Given the description of an element on the screen output the (x, y) to click on. 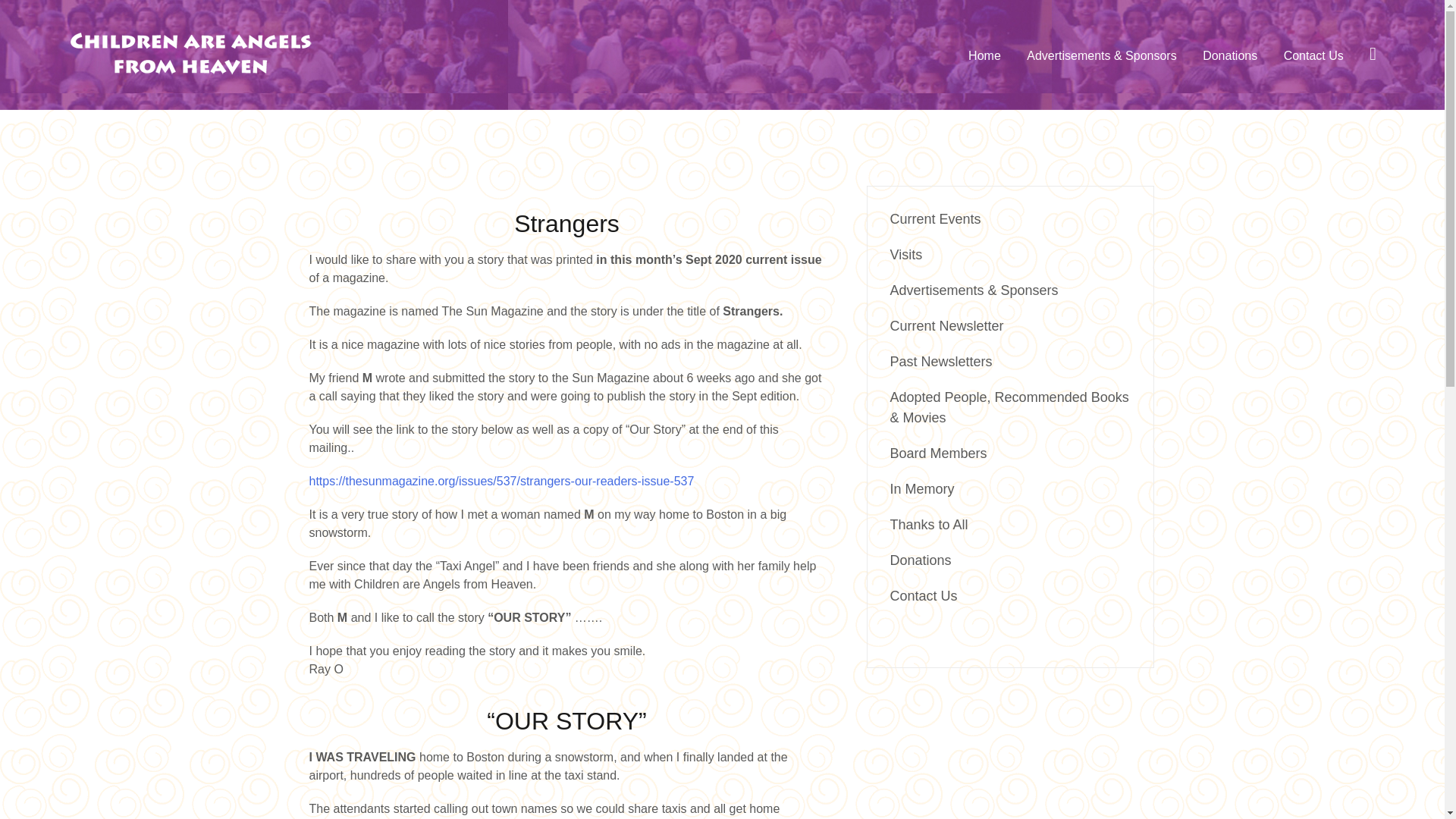
Home (984, 55)
Contact Us (923, 595)
Past Newsletters (940, 361)
In Memory (922, 488)
Donations (920, 560)
Donations (1229, 55)
Visits (906, 254)
Current Newsletter (946, 325)
Contact Us (1313, 55)
Thanks to All (928, 524)
